Given the description of an element on the screen output the (x, y) to click on. 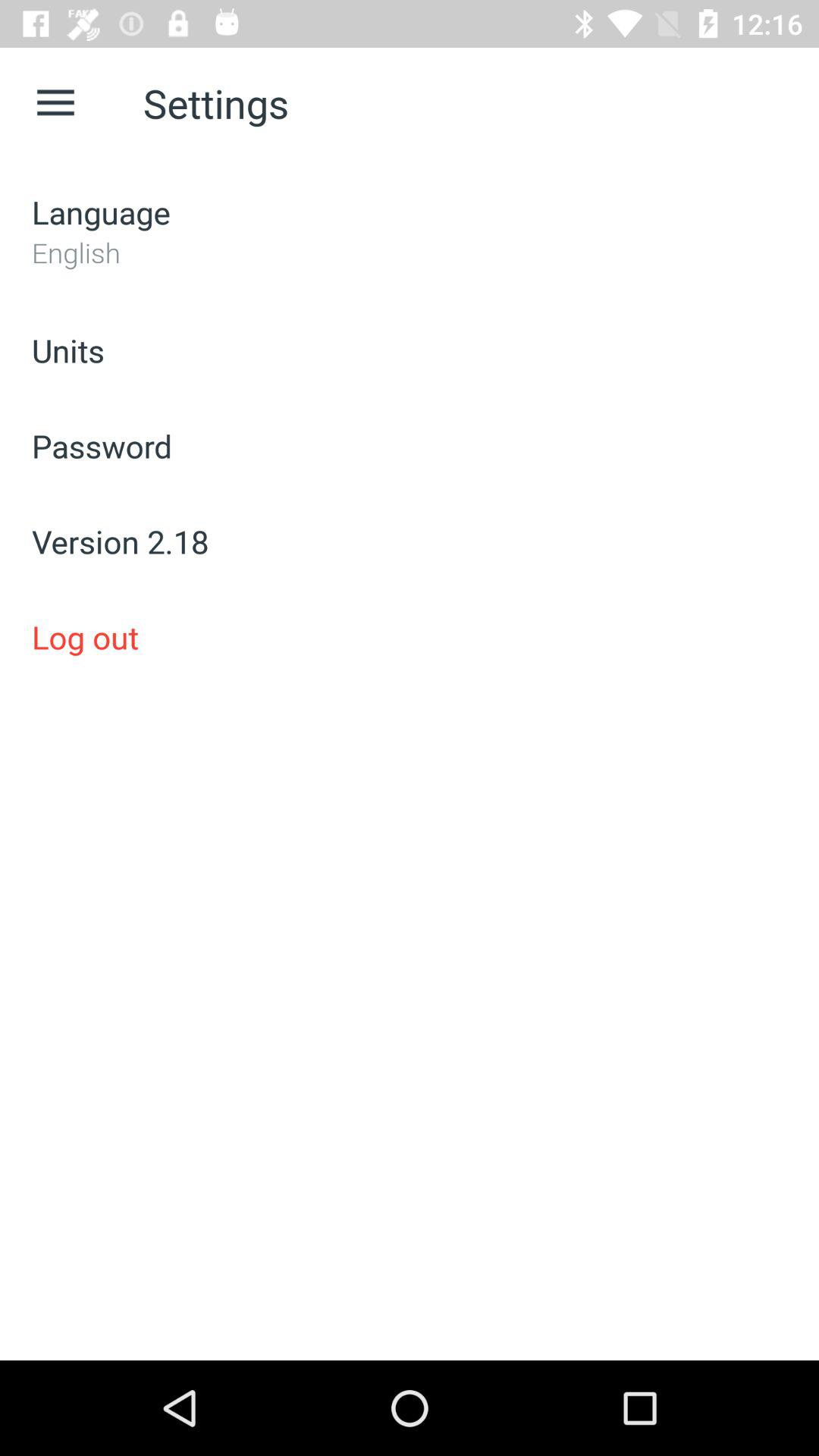
click the app to the left of the settings icon (55, 103)
